Given the description of an element on the screen output the (x, y) to click on. 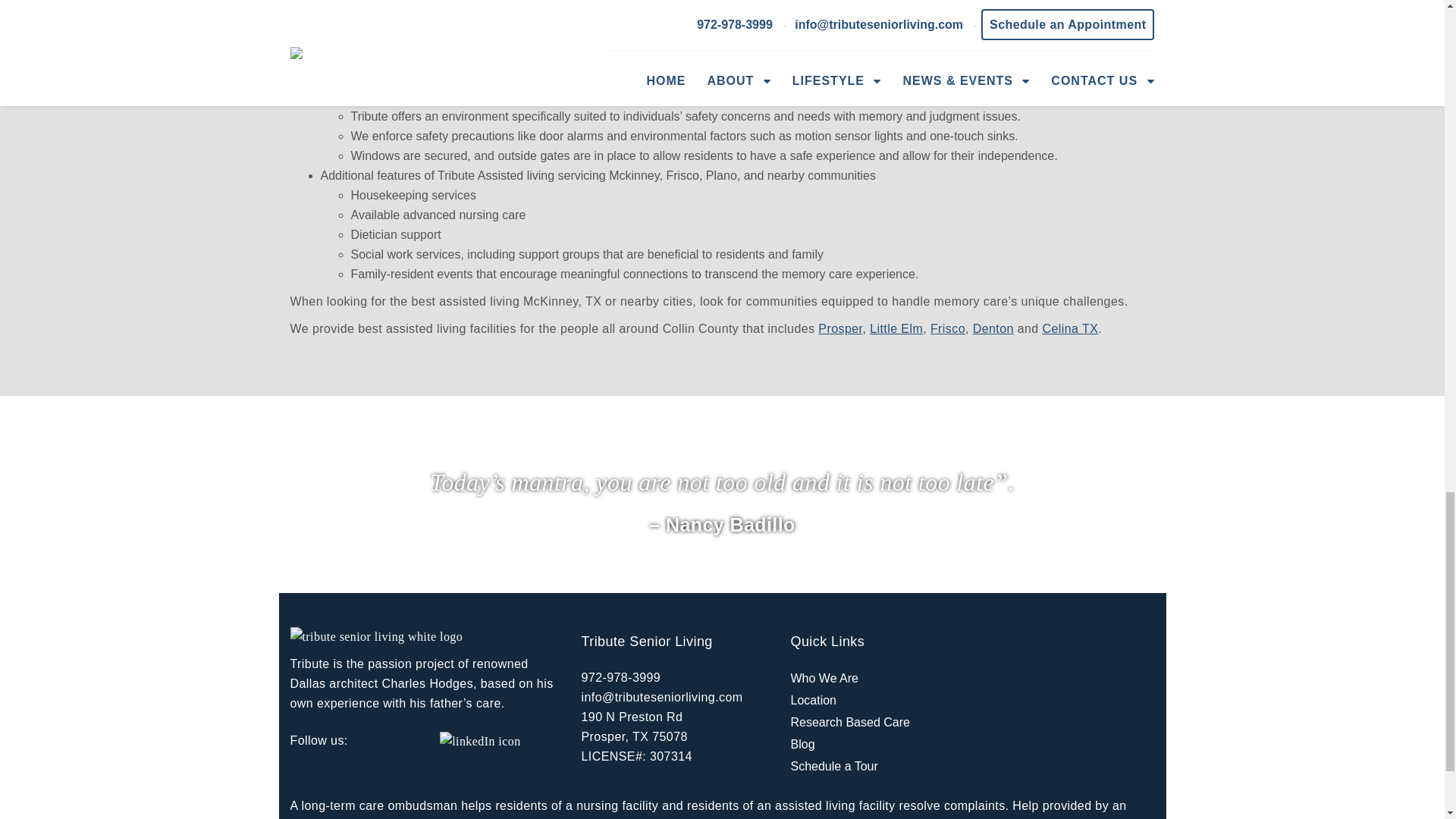
Denton (992, 328)
Little Elm (896, 328)
Prosper (839, 328)
Celina TX (1069, 328)
Frisco (947, 328)
Tribute Senior Living (405, 17)
